Given the description of an element on the screen output the (x, y) to click on. 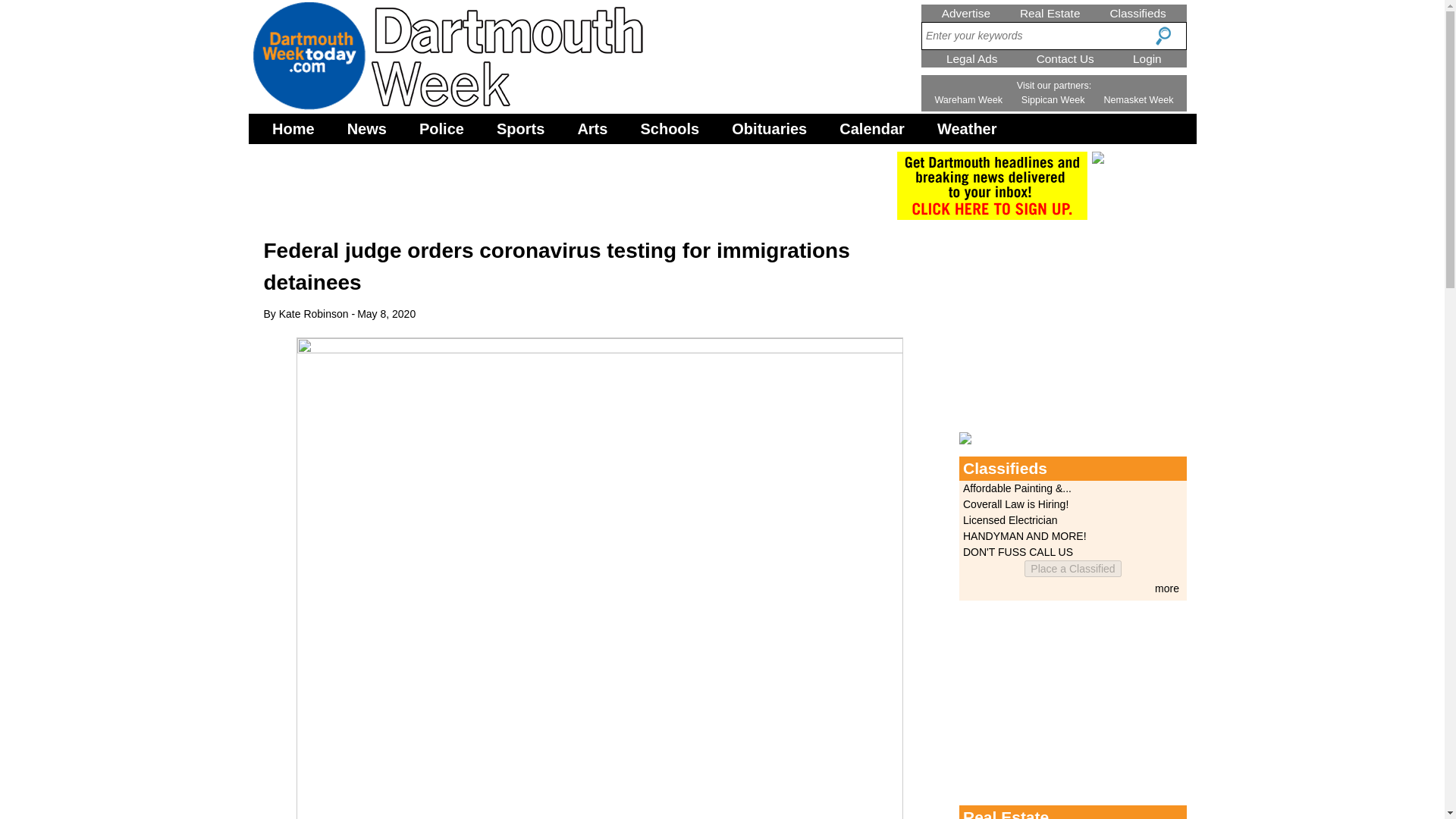
Legal Ads (971, 58)
Weather (967, 128)
Schools (669, 128)
Sippican Week (1053, 100)
Obituaries (769, 128)
Classifieds (1137, 12)
Real Estate (1050, 12)
Advertise (966, 12)
News (366, 128)
Home (292, 128)
